Given the description of an element on the screen output the (x, y) to click on. 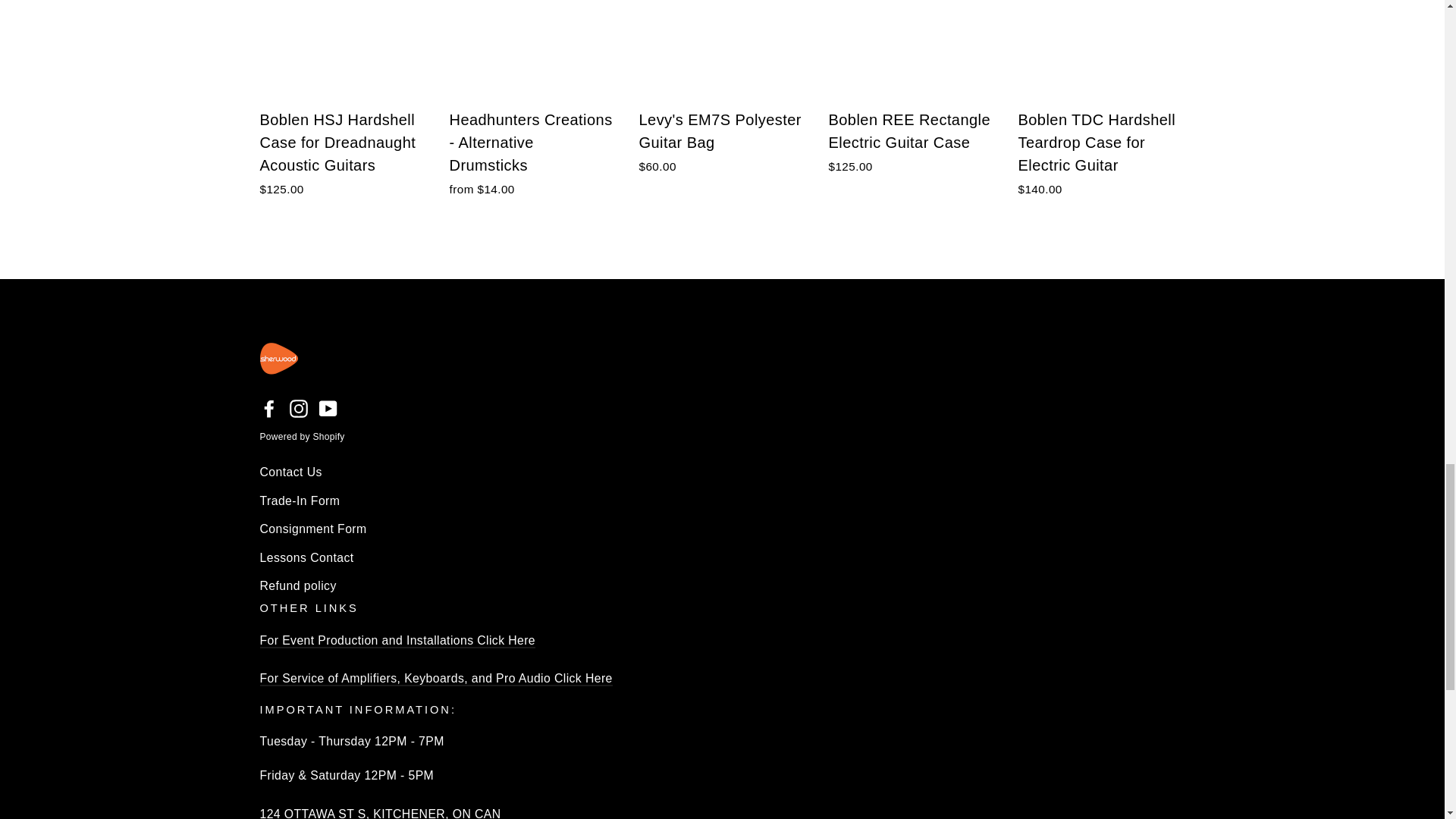
Sherwood on YouTube (327, 408)
Sherwood on Instagram (298, 408)
